Given the description of an element on the screen output the (x, y) to click on. 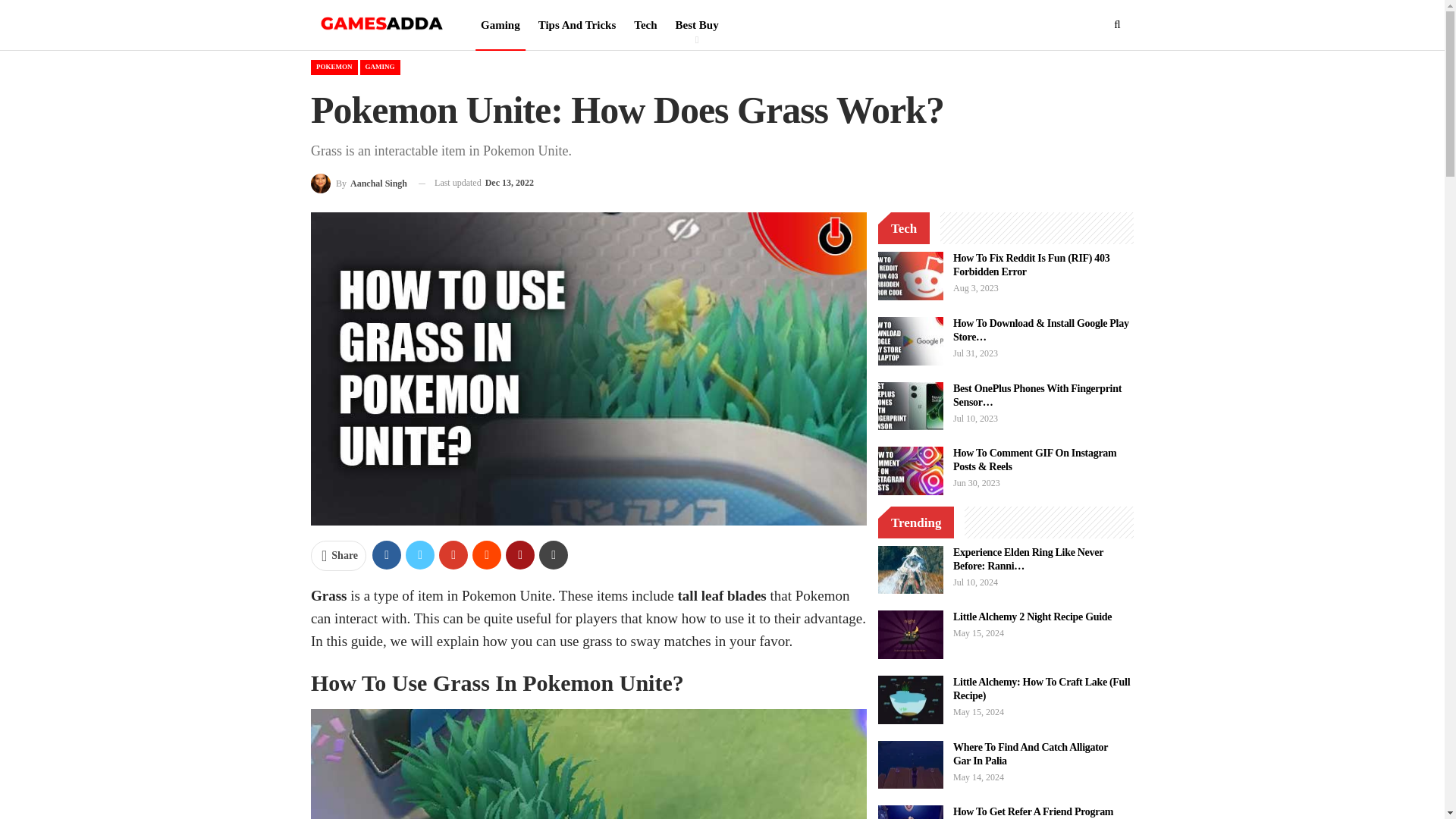
Gaming (500, 24)
Little Alchemy 2 Night Recipe Guide (910, 634)
GAMING (378, 66)
Browse Author Articles (359, 182)
How To Get Refer A Friend Program Rewards In Palia (910, 812)
Tips And Tricks (576, 24)
By Aanchal Singh (359, 182)
Best Buy (696, 24)
POKEMON (334, 66)
